Given the description of an element on the screen output the (x, y) to click on. 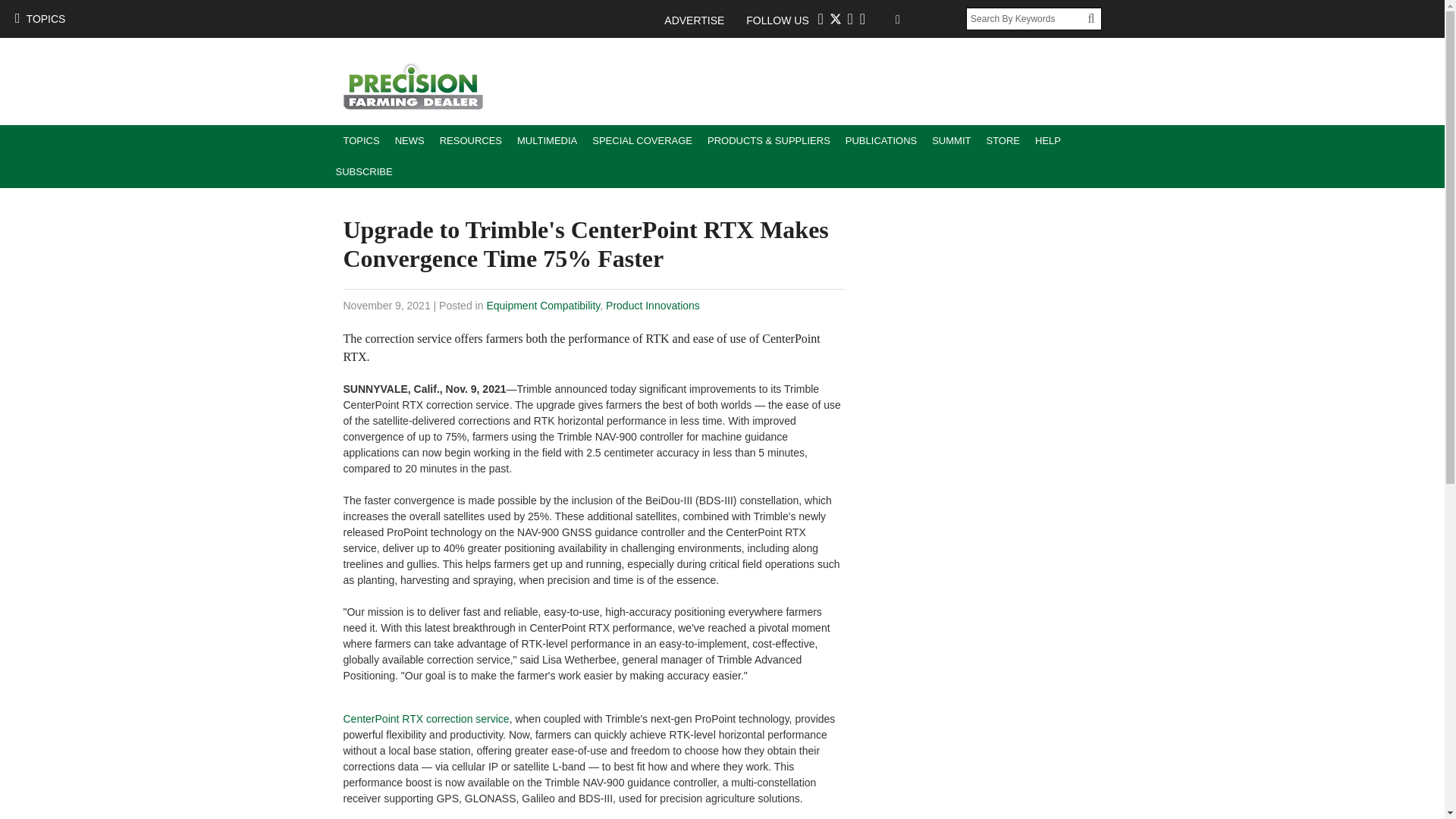
TOPICS (360, 140)
TOPICS (39, 18)
Search By Keywords (1026, 18)
NEWS (409, 140)
ADVERTISE (701, 20)
Search By Keywords (1026, 18)
